Given the description of an element on the screen output the (x, y) to click on. 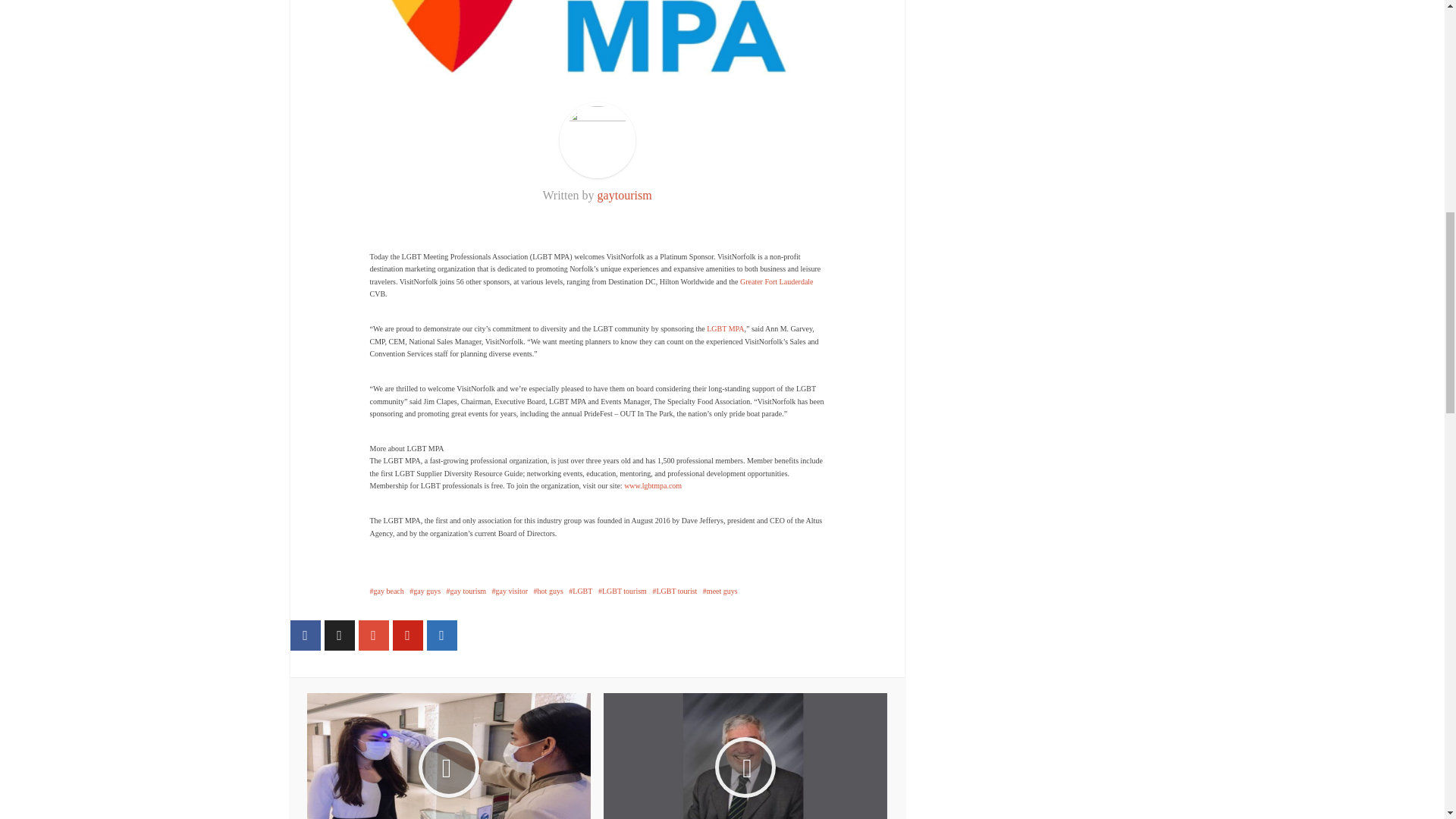
LGBT MPA (725, 328)
gay visitor (510, 591)
gaytourism (624, 195)
LGBT (580, 591)
LGBT tourist (674, 591)
Greater Fort Lauderdale (776, 281)
LGBT tourism (622, 591)
meet guys (720, 591)
gay guys (425, 591)
hot guys (548, 591)
